Given the description of an element on the screen output the (x, y) to click on. 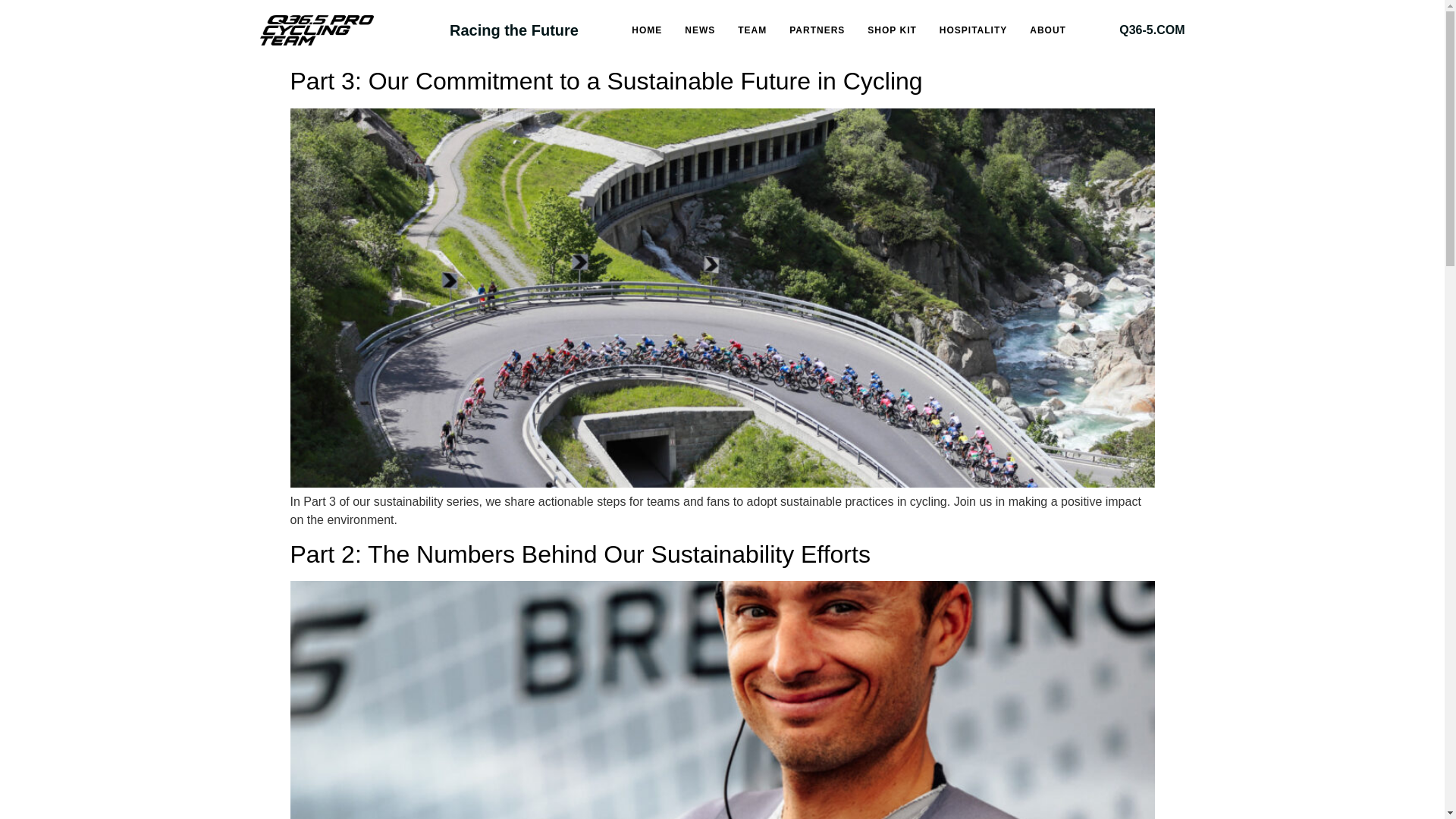
NEWS (699, 29)
Part 2: The Numbers Behind Our Sustainability Efforts (579, 554)
HOME (646, 29)
SHOP KIT (891, 29)
HOSPITALITY (972, 29)
Q36-5.COM (1152, 30)
TEAM (751, 29)
PARTNERS (816, 29)
Part 3: Our Commitment to a Sustainable Future in Cycling (605, 81)
ABOUT (1047, 29)
